Given the description of an element on the screen output the (x, y) to click on. 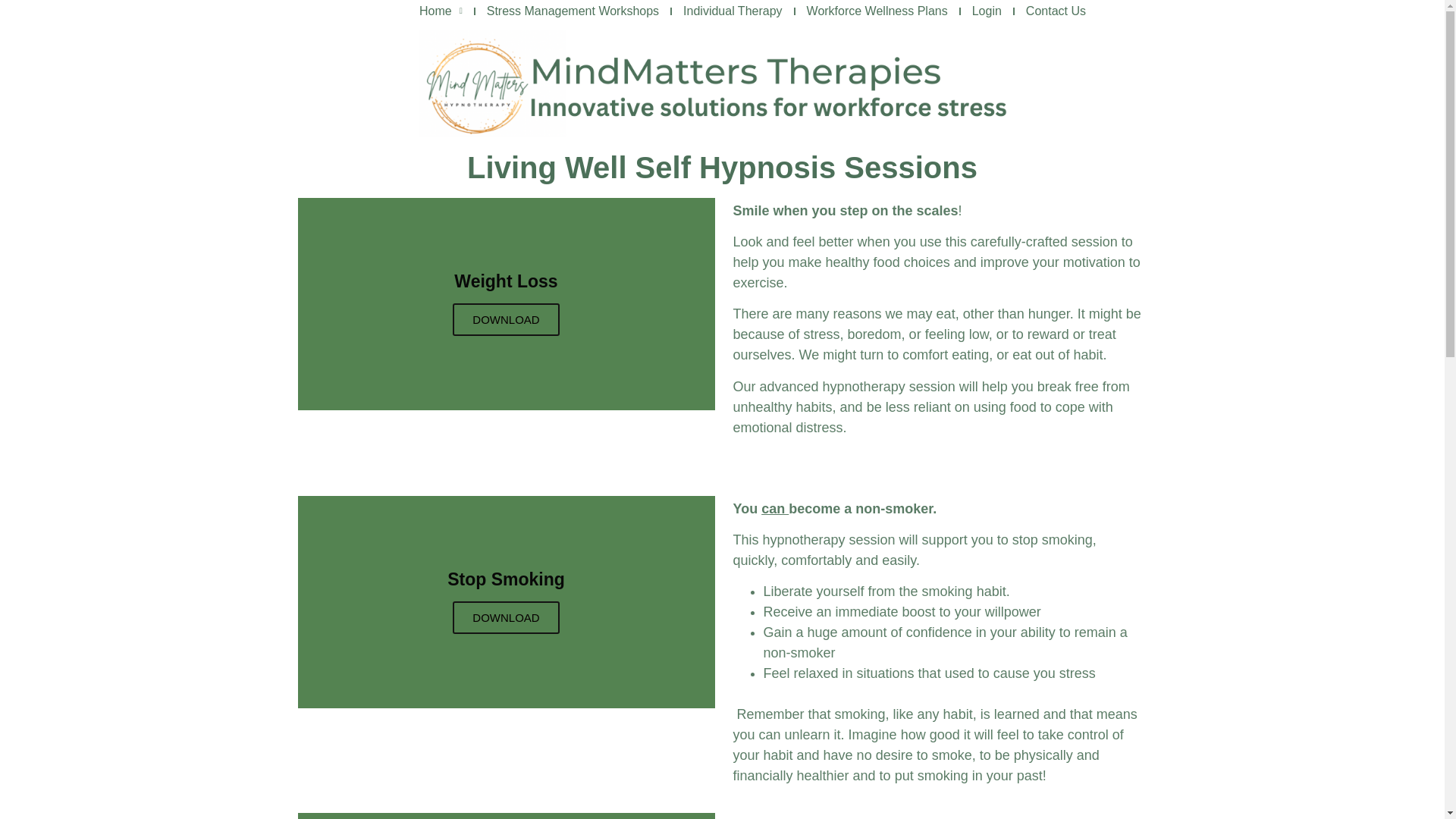
Workforce Wellness Plans (876, 11)
Login (986, 11)
Individual Therapy (731, 11)
Home (441, 11)
Stress Management Workshops (572, 11)
Contact Us (1056, 11)
